Given the description of an element on the screen output the (x, y) to click on. 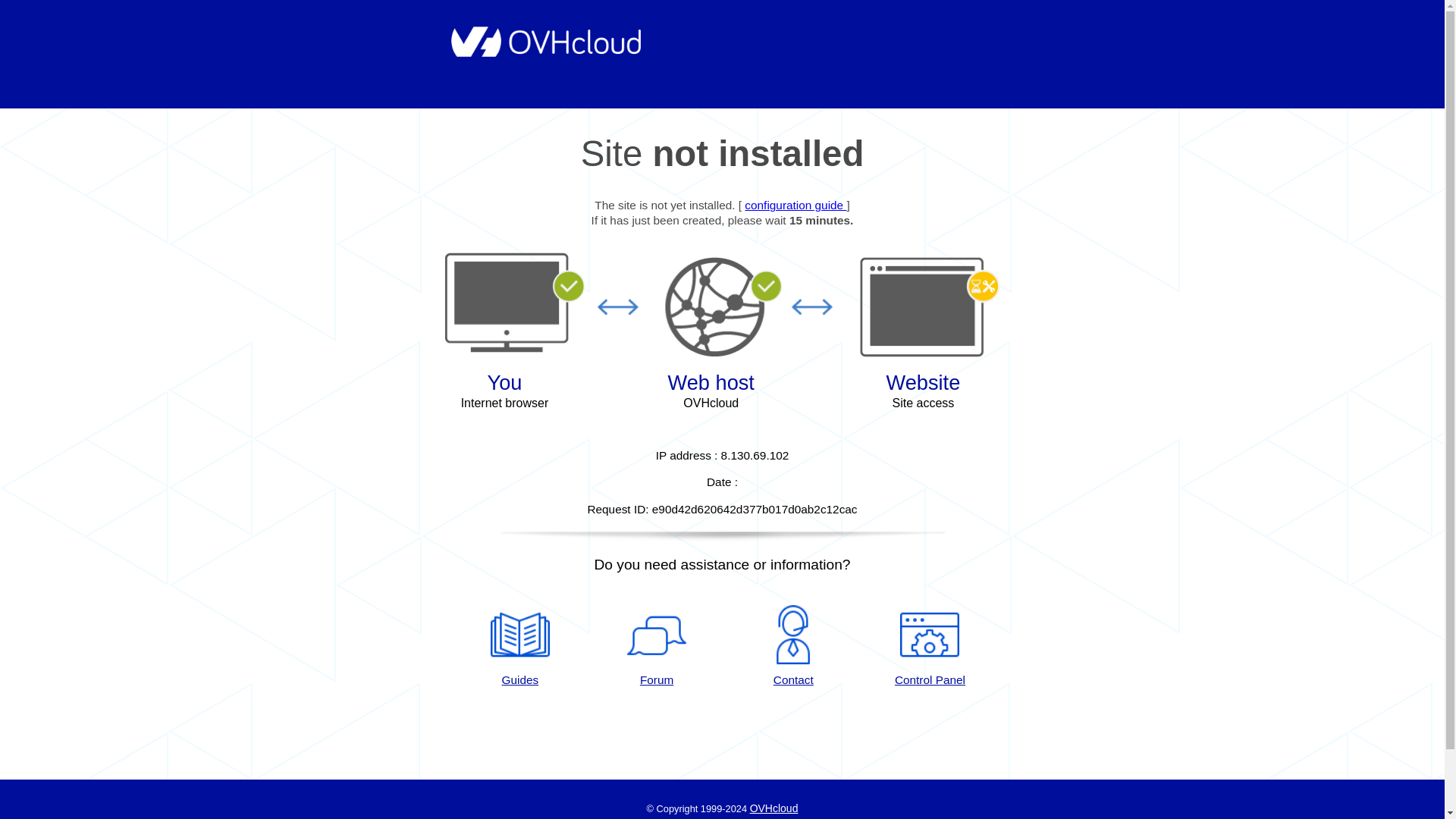
Guides (519, 646)
configuration guide (794, 205)
Guides (519, 646)
Contact (793, 646)
Guides (794, 205)
Forum (656, 646)
Forum (656, 646)
Control Panel (930, 646)
Control Panel (930, 646)
OVHcloud (773, 808)
Contact (793, 646)
